Given the description of an element on the screen output the (x, y) to click on. 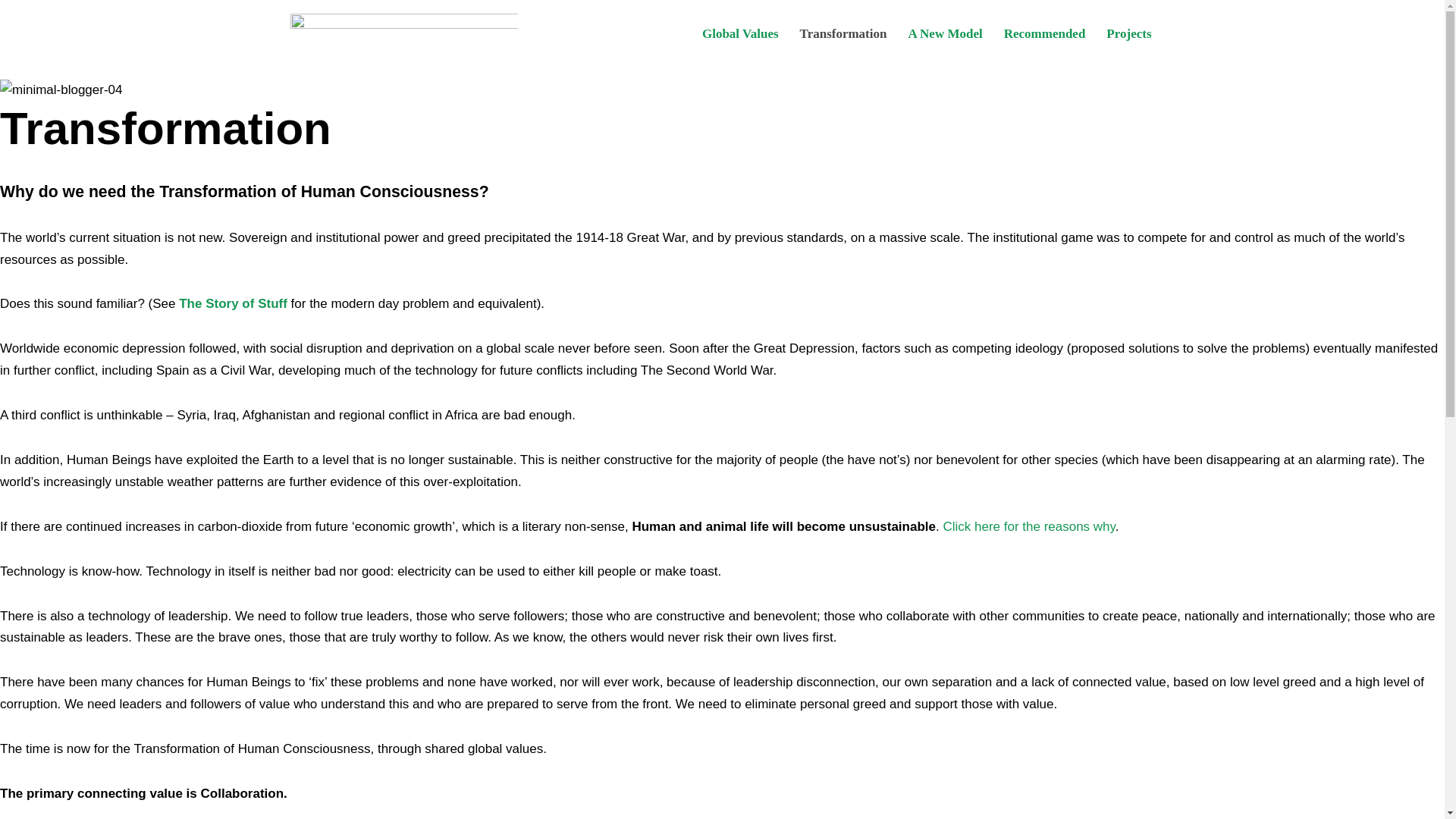
minimal-blogger-04 (61, 90)
Global Values (739, 33)
A New Model (944, 33)
Click here for the reasons why (1028, 526)
Recommended (1045, 33)
Transformation (842, 33)
Projects (1128, 33)
Skip to content (11, 31)
The Story of Stuff (232, 303)
